Given the description of an element on the screen output the (x, y) to click on. 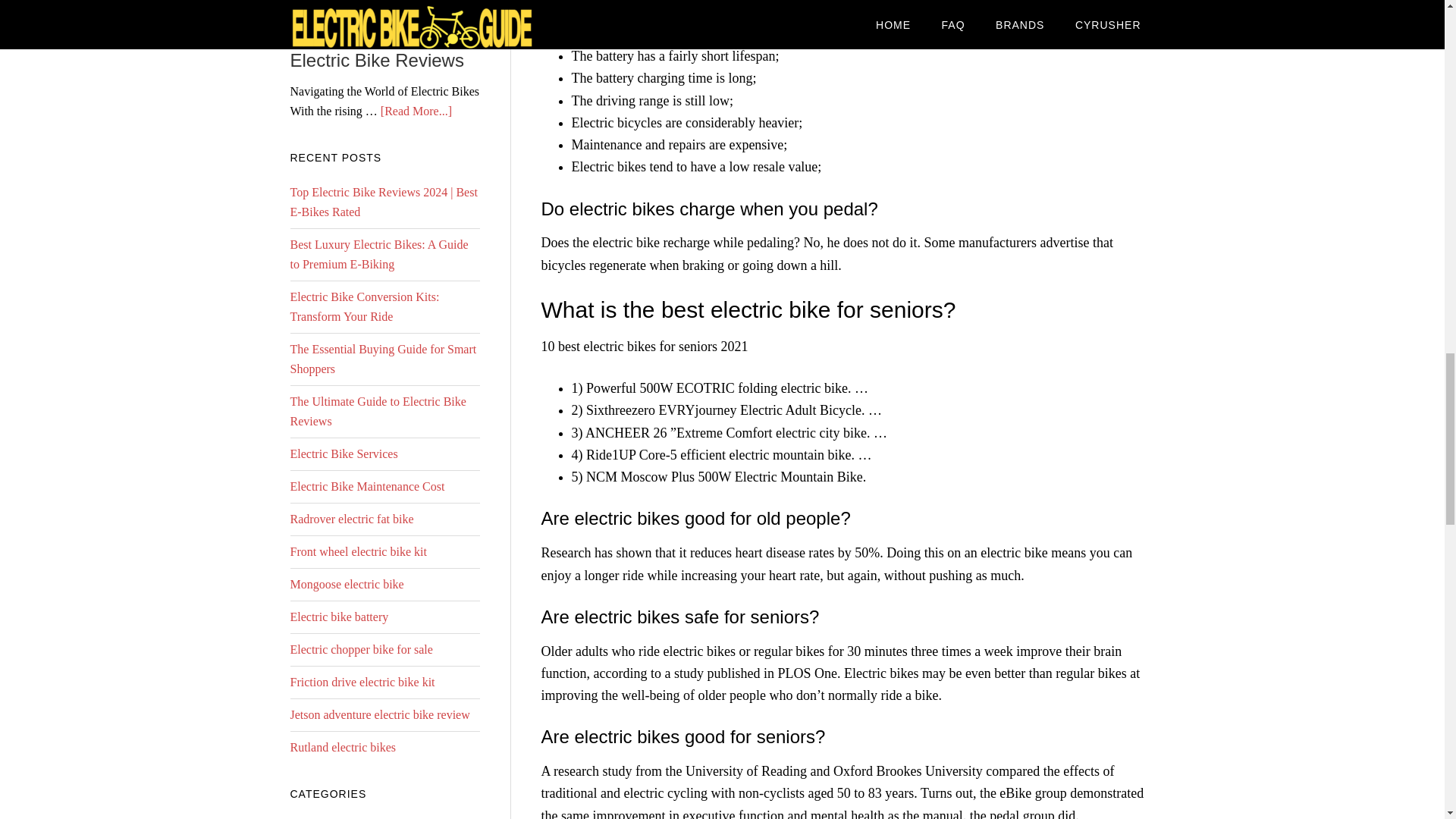
The Ultimate Guide to Electric Bike Reviews (377, 410)
Electric chopper bike for sale (360, 649)
Electric Bike Services (343, 453)
Radrover electric fat bike (351, 518)
Front wheel electric bike kit (357, 551)
Electric Bike Conversion Kits: Transform Your Ride (364, 306)
The Essential Buying Guide for Smart Shoppers (382, 359)
Mongoose electric bike (346, 584)
Electric bike battery (338, 616)
The Ultimate Guide to Electric Bike Reviews (377, 50)
Electric Bike Maintenance Cost (366, 486)
Jetson adventure electric bike review (378, 714)
Friction drive electric bike kit (361, 681)
Best Luxury Electric Bikes: A Guide to Premium E-Biking (378, 254)
